Given the description of an element on the screen output the (x, y) to click on. 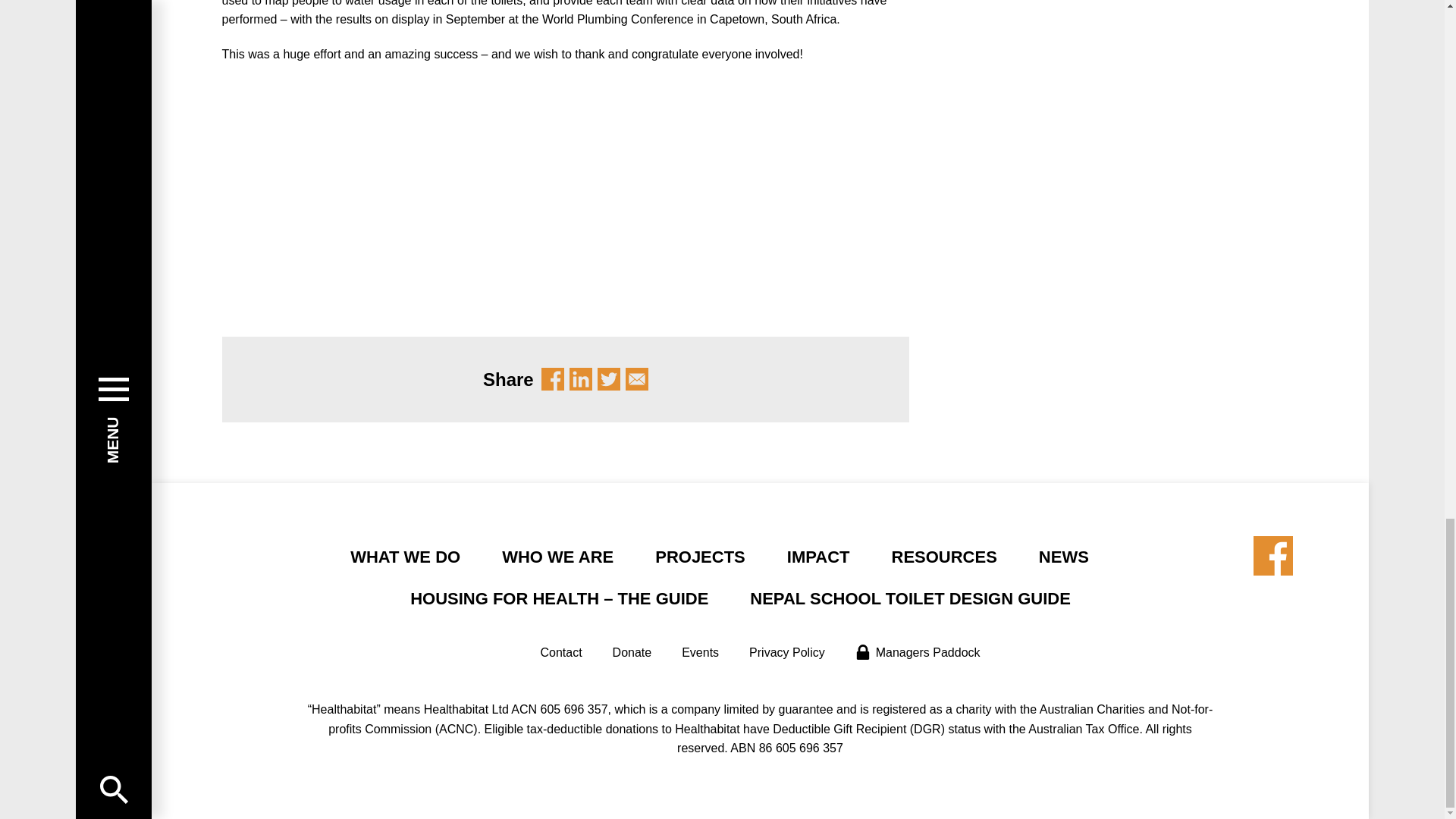
Share by Linkedin (580, 378)
Donate (632, 652)
NEPAL SCHOOL TOILET DESIGN GUIDE (909, 598)
PROJECTS (700, 556)
RESOURCES (944, 556)
EMAIL (636, 378)
Share by Facebook (552, 378)
Lss 1821jpg 28096233552 O (391, 192)
TWITTER (608, 378)
Share by Twitter (608, 378)
